Given the description of an element on the screen output the (x, y) to click on. 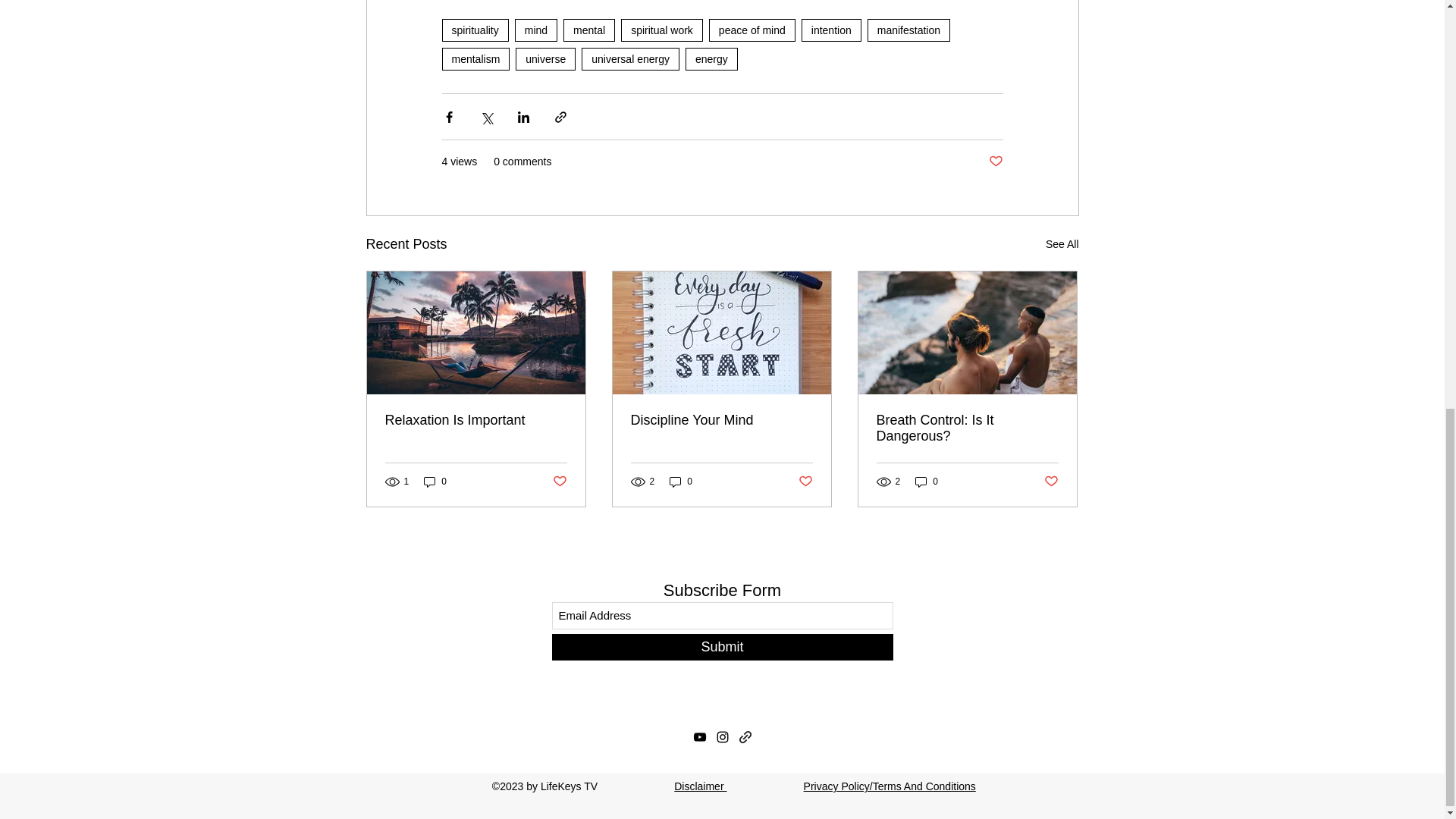
Breath Control: Is It Dangerous? (967, 428)
Post not marked as liked (995, 161)
peace of mind (751, 29)
Relaxation Is Important (476, 420)
spiritual work (662, 29)
Discipline Your Mind (721, 420)
0 (435, 481)
manifestation (908, 29)
intention (831, 29)
mind (536, 29)
